Given the description of an element on the screen output the (x, y) to click on. 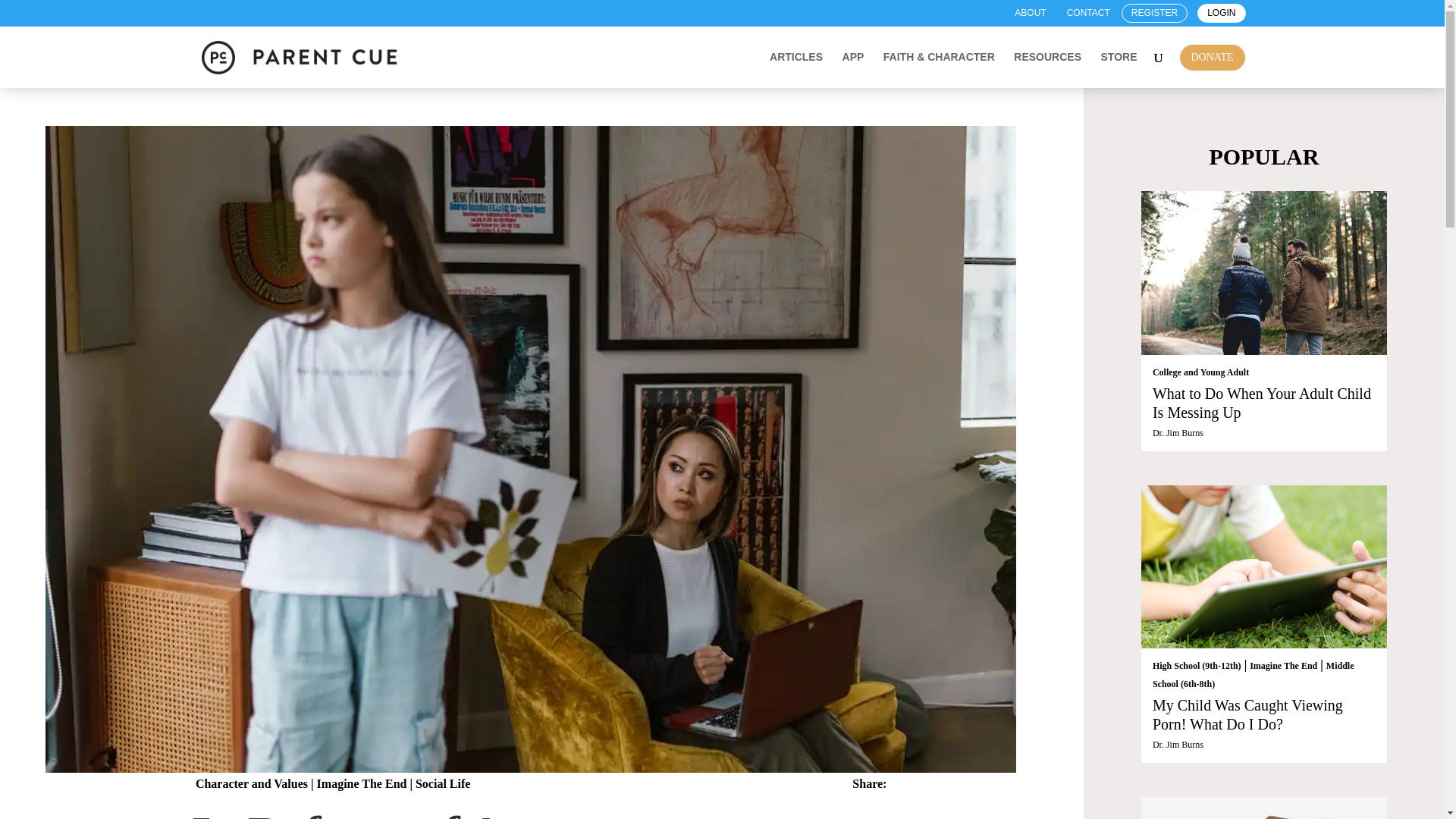
DONATE (1210, 57)
Character and Values (251, 783)
REGISTER (1154, 13)
What to Do When Your Adult Child Is Messing Up (1262, 402)
Posts by Dr. Jim Burns (1178, 744)
Posts by Dr. Jim Burns (1178, 432)
RESOURCES (1047, 69)
LOGIN (1220, 13)
My Child Was Caught Viewing Porn! What Do I Do? (1247, 714)
To the Parents of the Class of 2020 (1264, 807)
STORE (1118, 69)
ARTICLES (796, 69)
CONTACT (1088, 13)
My Child Was Caught Viewing Porn! What Do I Do? (1264, 566)
ABOUT (1030, 13)
